Given the description of an element on the screen output the (x, y) to click on. 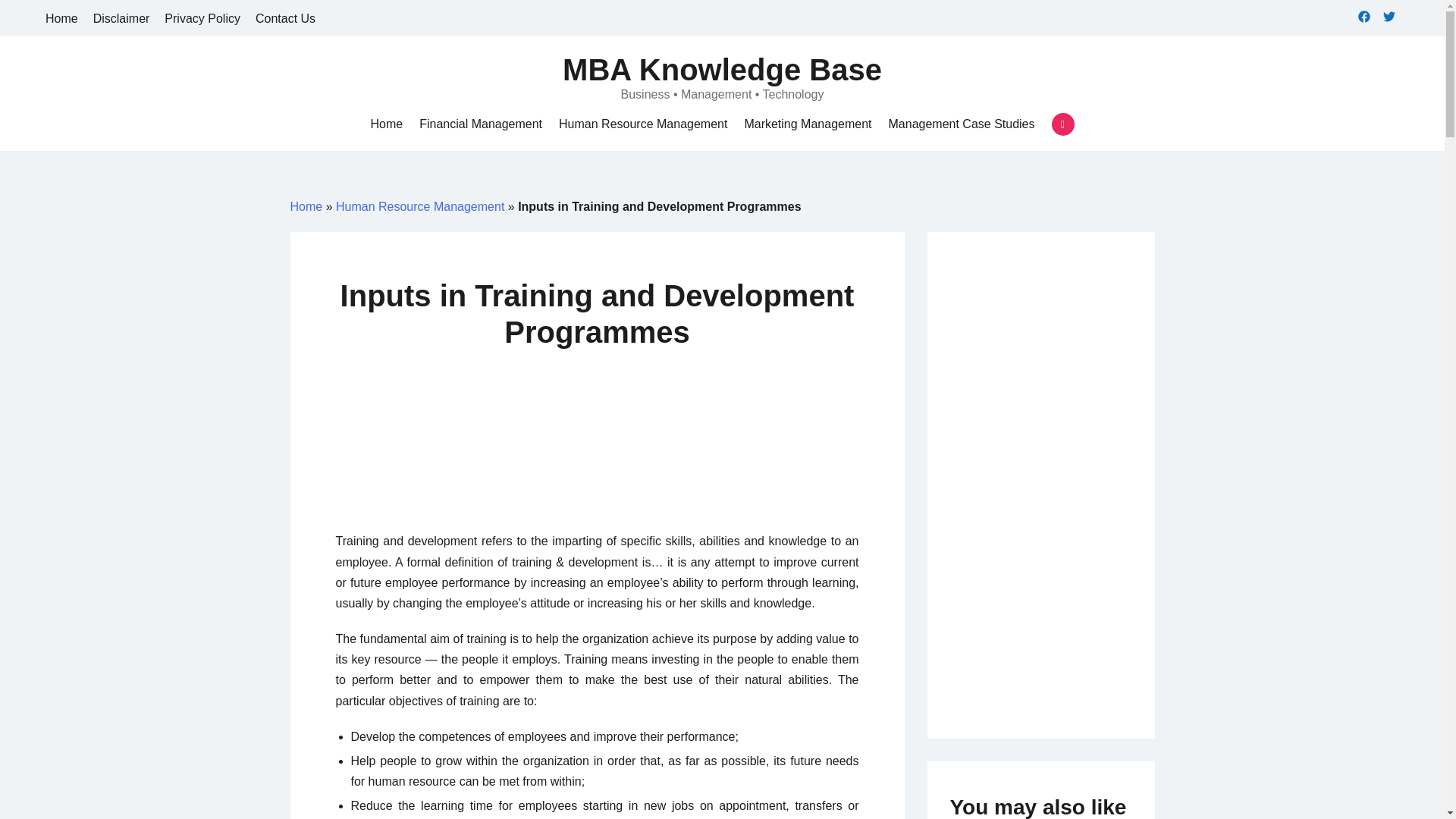
Marketing Management (807, 123)
Financial Management (480, 123)
Home (61, 18)
Privacy Policy (202, 18)
Human Resource Management (642, 123)
Search (37, 16)
Home (305, 205)
Home (386, 123)
MBA Knowledge Base (722, 69)
Human Resource Management (419, 205)
Contact Us (285, 18)
Management Case Studies (961, 123)
Disclaimer (121, 18)
Home (386, 123)
